Given the description of an element on the screen output the (x, y) to click on. 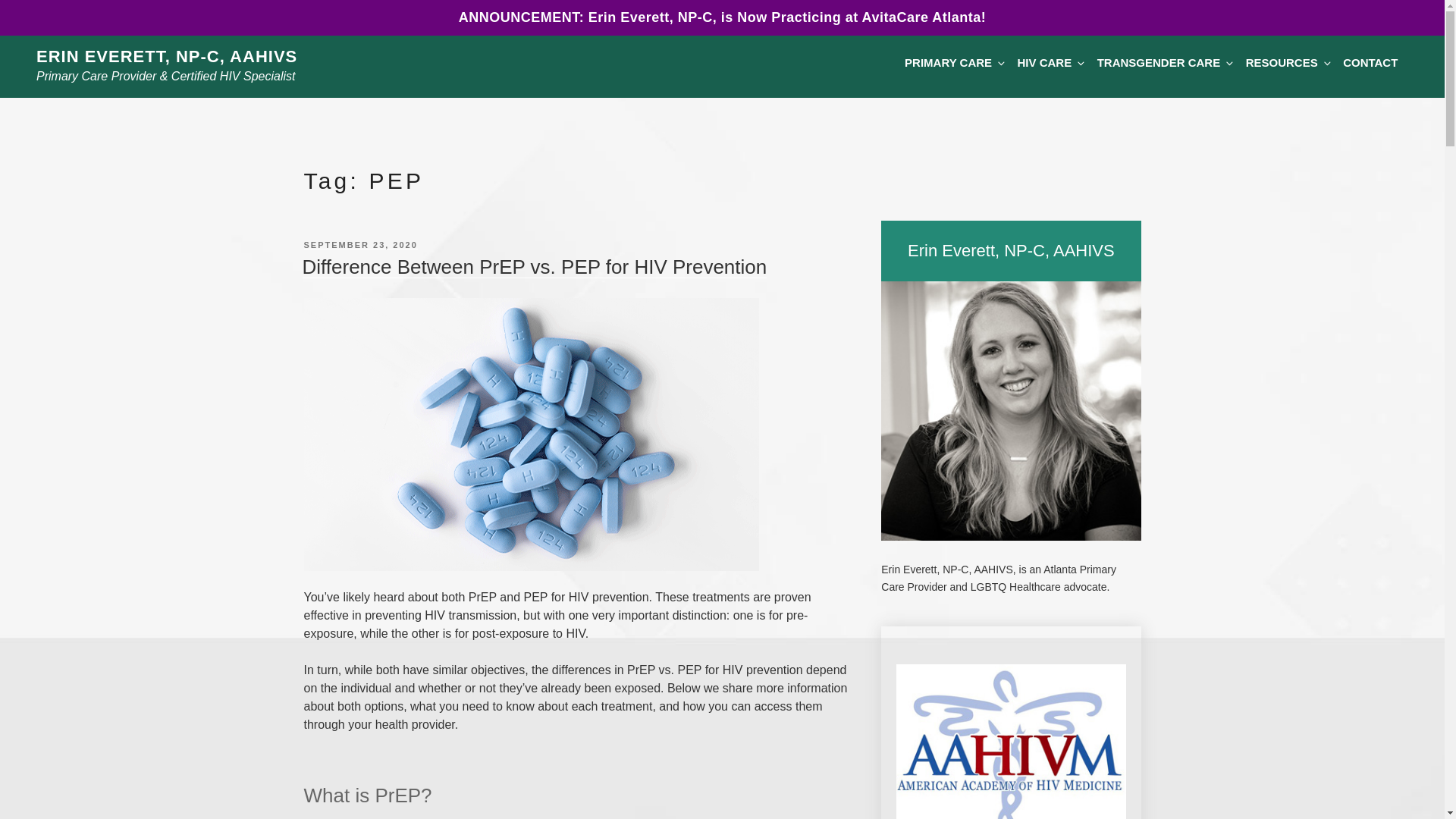
TRANSGENDER CARE (1164, 63)
ERIN EVERETT, NP-C, AAHIVS (166, 56)
RESOURCES (1287, 63)
CONTACT (1370, 63)
Difference Between PrEP vs. PEP for HIV Prevention (534, 266)
PRIMARY CARE (954, 63)
HIV CARE (1050, 63)
SEPTEMBER 23, 2020 (359, 243)
